Given the description of an element on the screen output the (x, y) to click on. 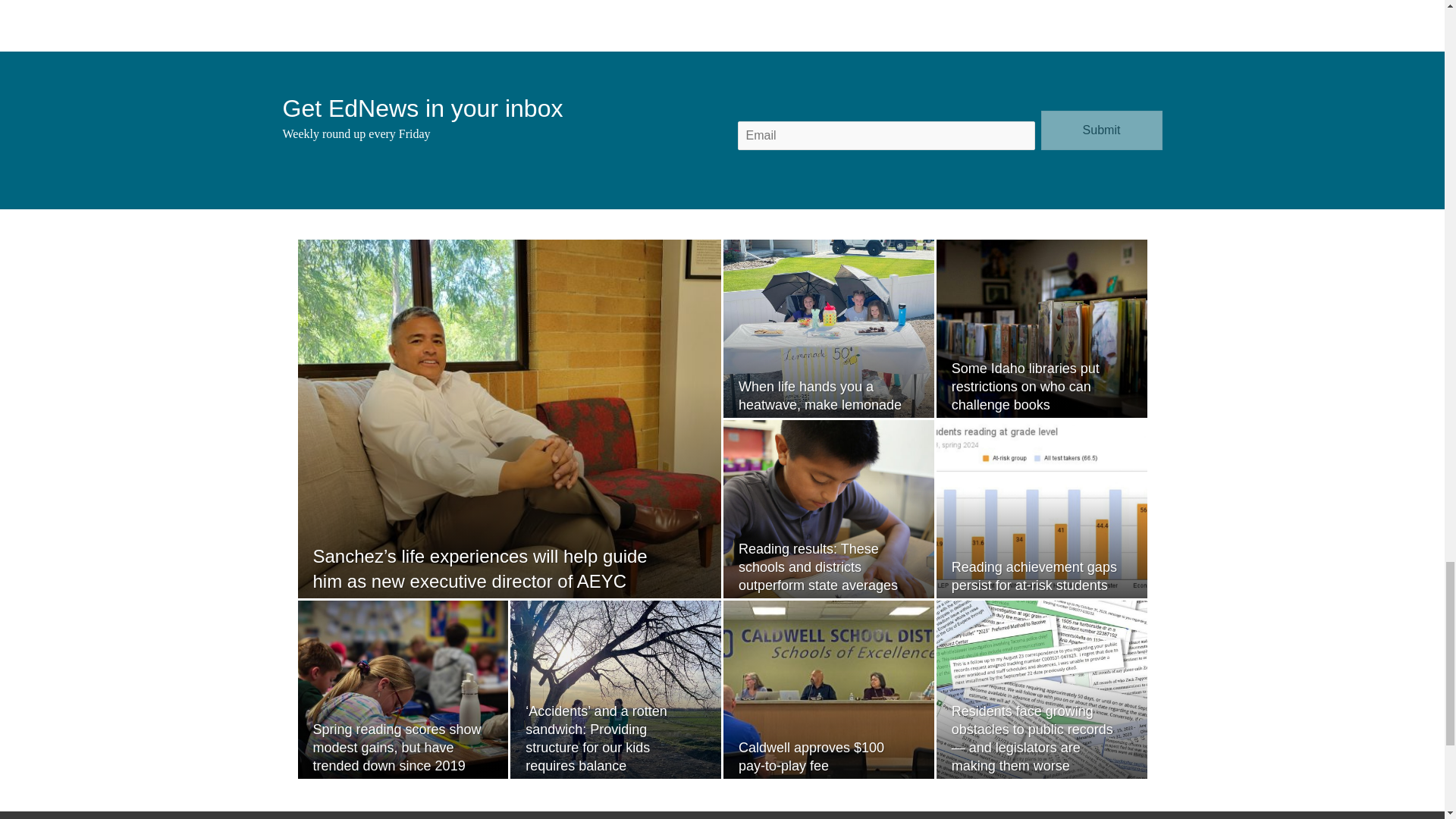
When life hands you a heatwave, make lemonade (819, 395)
Submit (1101, 129)
Reading achievement gaps persist for at-risk students (1034, 575)
